Given the description of an element on the screen output the (x, y) to click on. 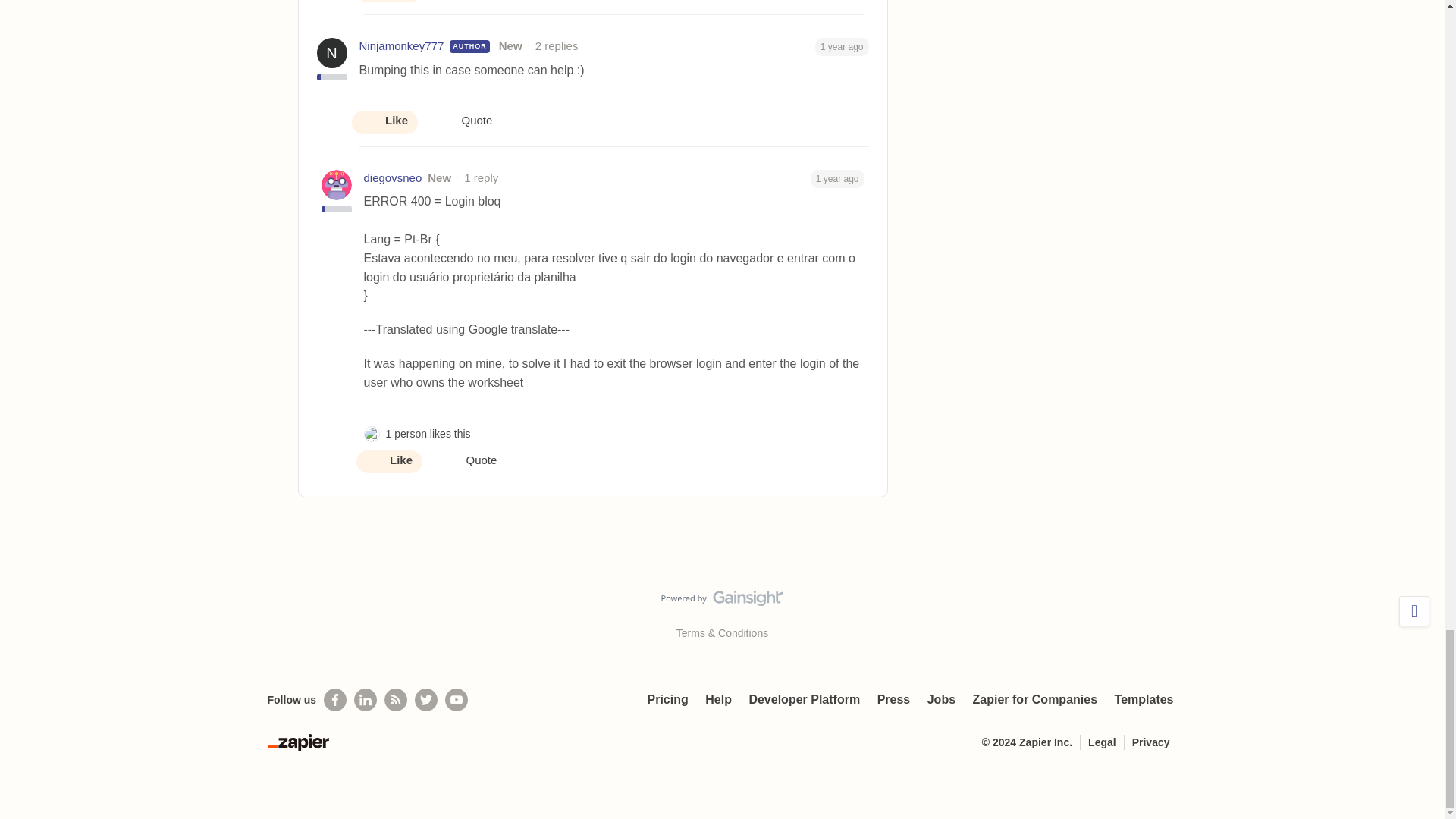
Ninjamonkey777 (401, 46)
diegovsneo (393, 178)
Follow us on Facebook (334, 699)
Visit Gainsight.com (722, 601)
See helpful Zapier videos on Youtube (456, 699)
Back to top (1414, 611)
Follow us on LinkedIn (365, 699)
Subscribe to our blog (395, 699)
